Given the description of an element on the screen output the (x, y) to click on. 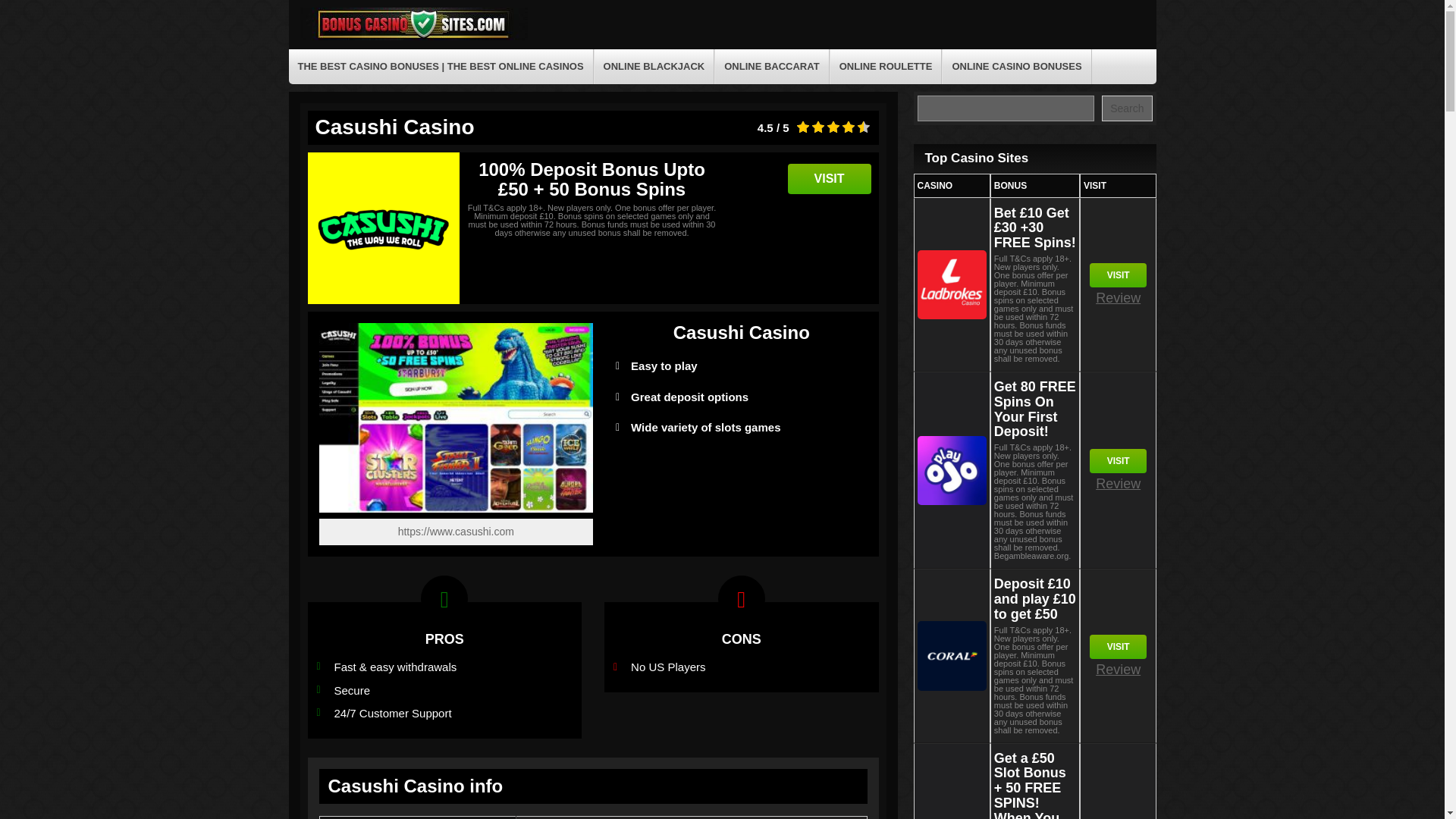
bonuscasinossites.com (413, 37)
